Given the description of an element on the screen output the (x, y) to click on. 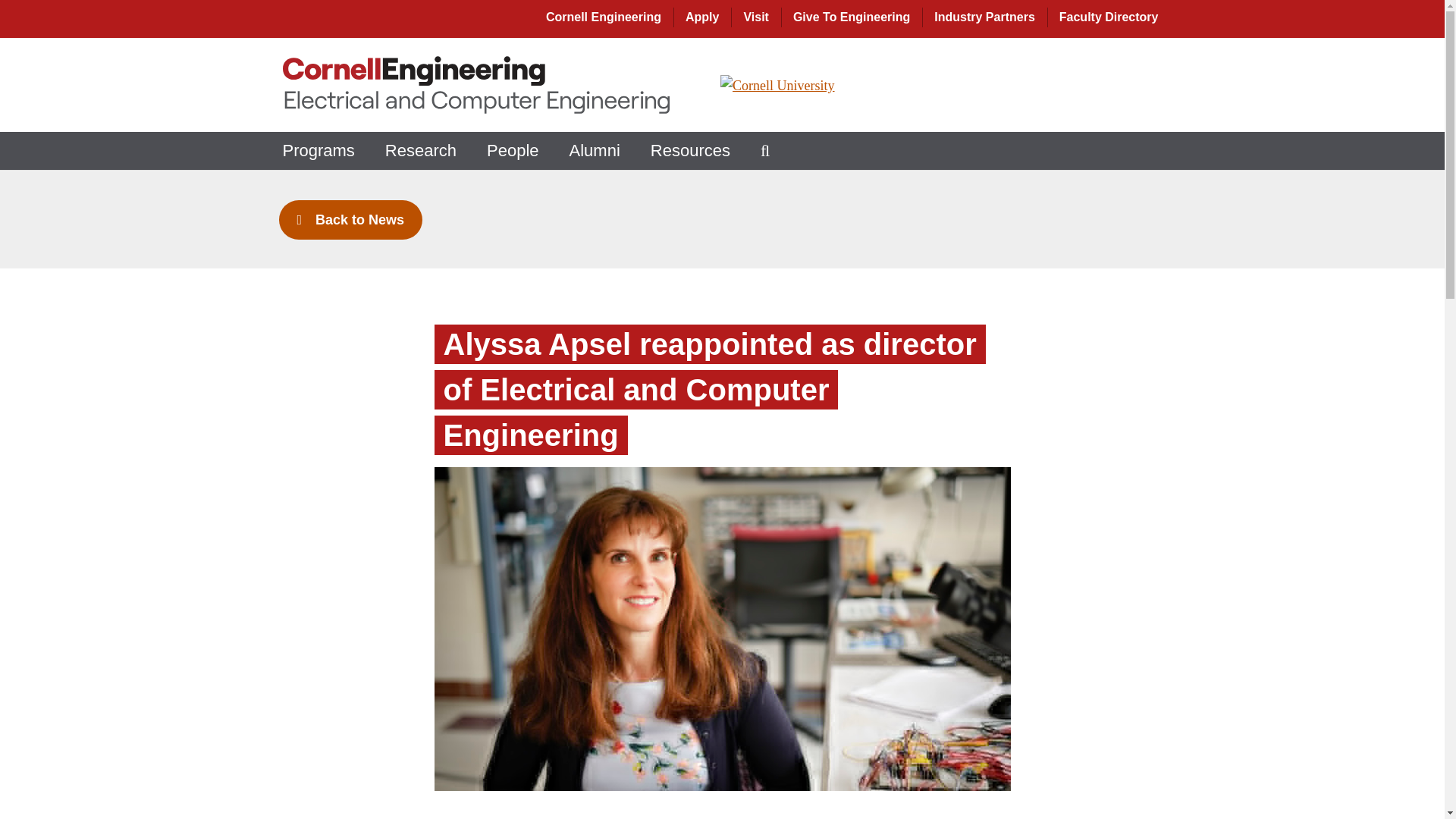
Resources (689, 150)
Give To Engineering (851, 17)
Research (420, 150)
Programs (317, 150)
People (512, 150)
Industry Partners (984, 17)
Visit (755, 17)
Alumni (594, 150)
Faculty Directory (1110, 17)
Apply (702, 17)
